Given the description of an element on the screen output the (x, y) to click on. 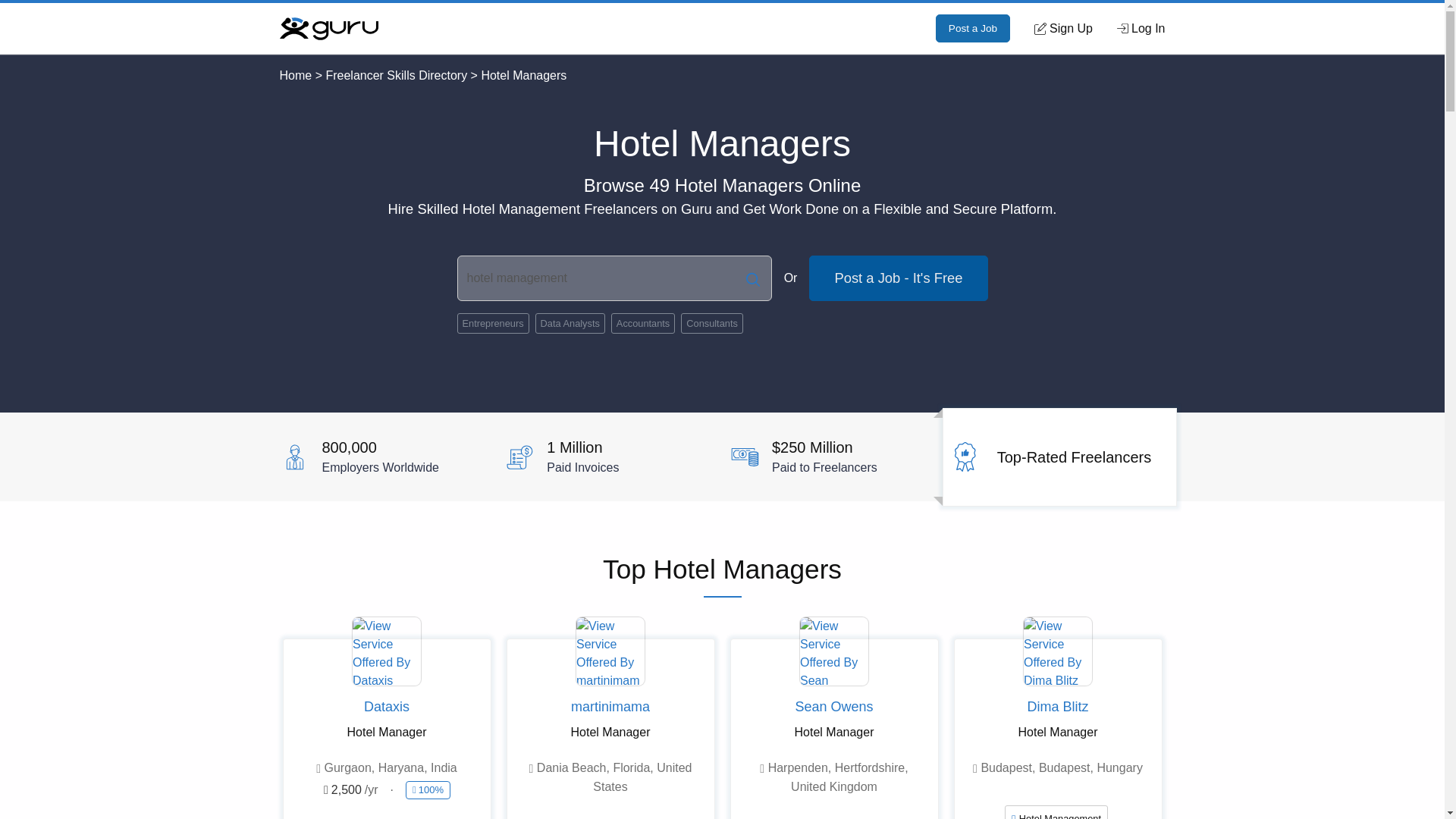
Dima Blitz (1057, 707)
Post a Job (973, 28)
Accountants (643, 322)
Log In (1140, 28)
View Service Offered By Dima Blitz  (1057, 651)
View Service Offered By Sean Owens  (833, 651)
Home (295, 74)
Consultants (711, 322)
Sean Owens (834, 707)
Search Freelancers (752, 278)
hotel management (614, 278)
Post a Job (973, 28)
martinimama (609, 707)
Guru (328, 27)
Search Freelancers (752, 278)
